Given the description of an element on the screen output the (x, y) to click on. 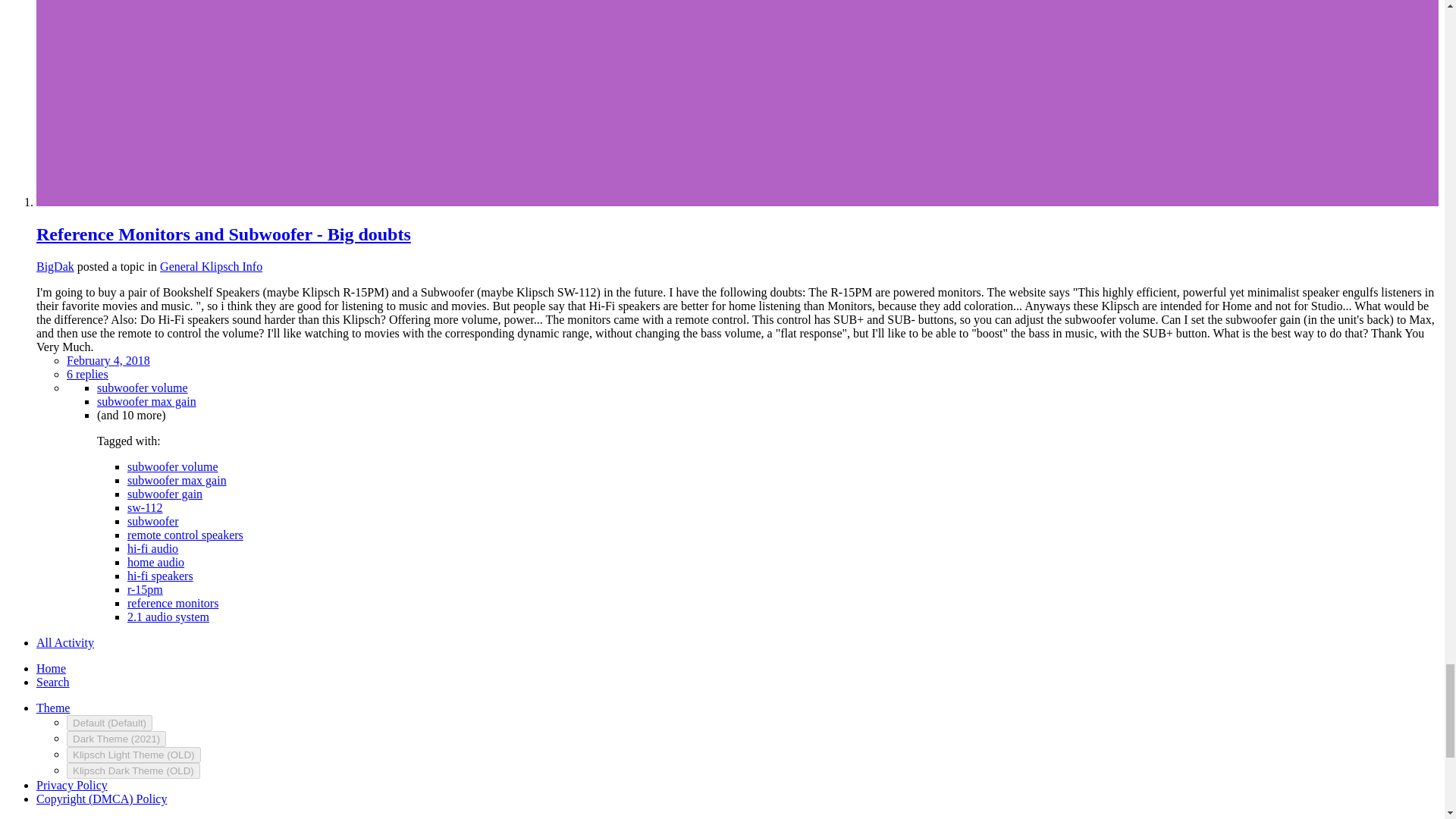
Find other content tagged with 'sw-112' (145, 507)
Find other content tagged with 'subwoofer max gain' (146, 400)
Find other content tagged with 'r-15pm' (145, 589)
Find other content tagged with 'subwoofer' (153, 521)
Find other content tagged with 'subwoofer max gain' (177, 480)
Find other content tagged with 'remote control speakers' (185, 534)
Find other content tagged with 'hi-fi audio' (152, 548)
Find other content tagged with 'subwoofer gain' (165, 493)
Go to BigDak's profile (55, 266)
Find other content tagged with 'subwoofer volume' (173, 466)
Find other content tagged with 'subwoofer volume' (142, 387)
Find other content tagged with 'home audio' (156, 562)
Find other content tagged with 'hi-fi speakers' (160, 575)
